Given the description of an element on the screen output the (x, y) to click on. 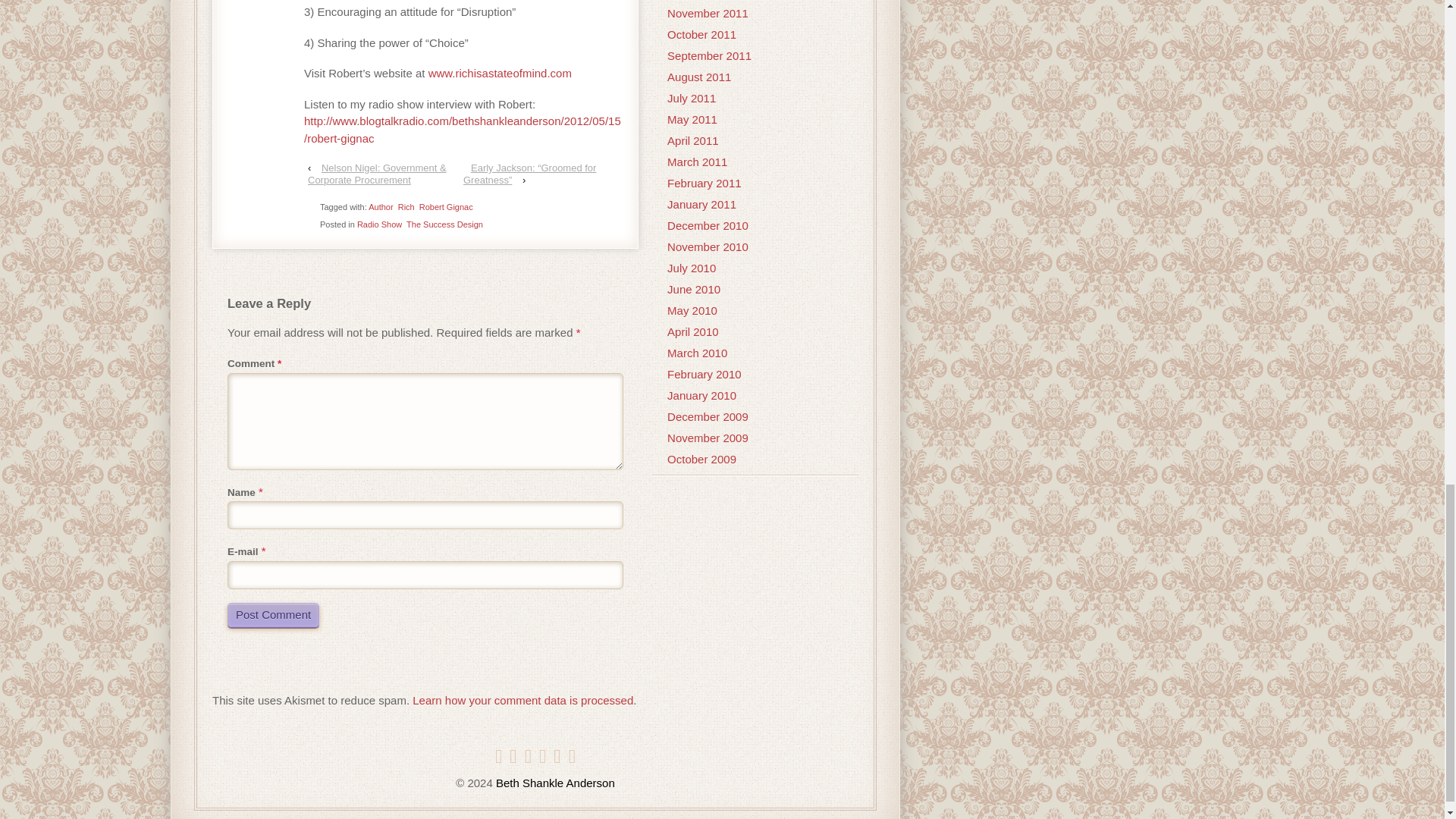
Author (380, 206)
The Success Design (444, 224)
Rich (405, 206)
Post Comment (272, 614)
Robert Gignac (446, 206)
Beth Shankle Anderson (553, 782)
Learn how your comment data is processed (522, 699)
Post Comment (272, 614)
Radio Show (378, 224)
www.richisastateofmind.com (500, 72)
